Given the description of an element on the screen output the (x, y) to click on. 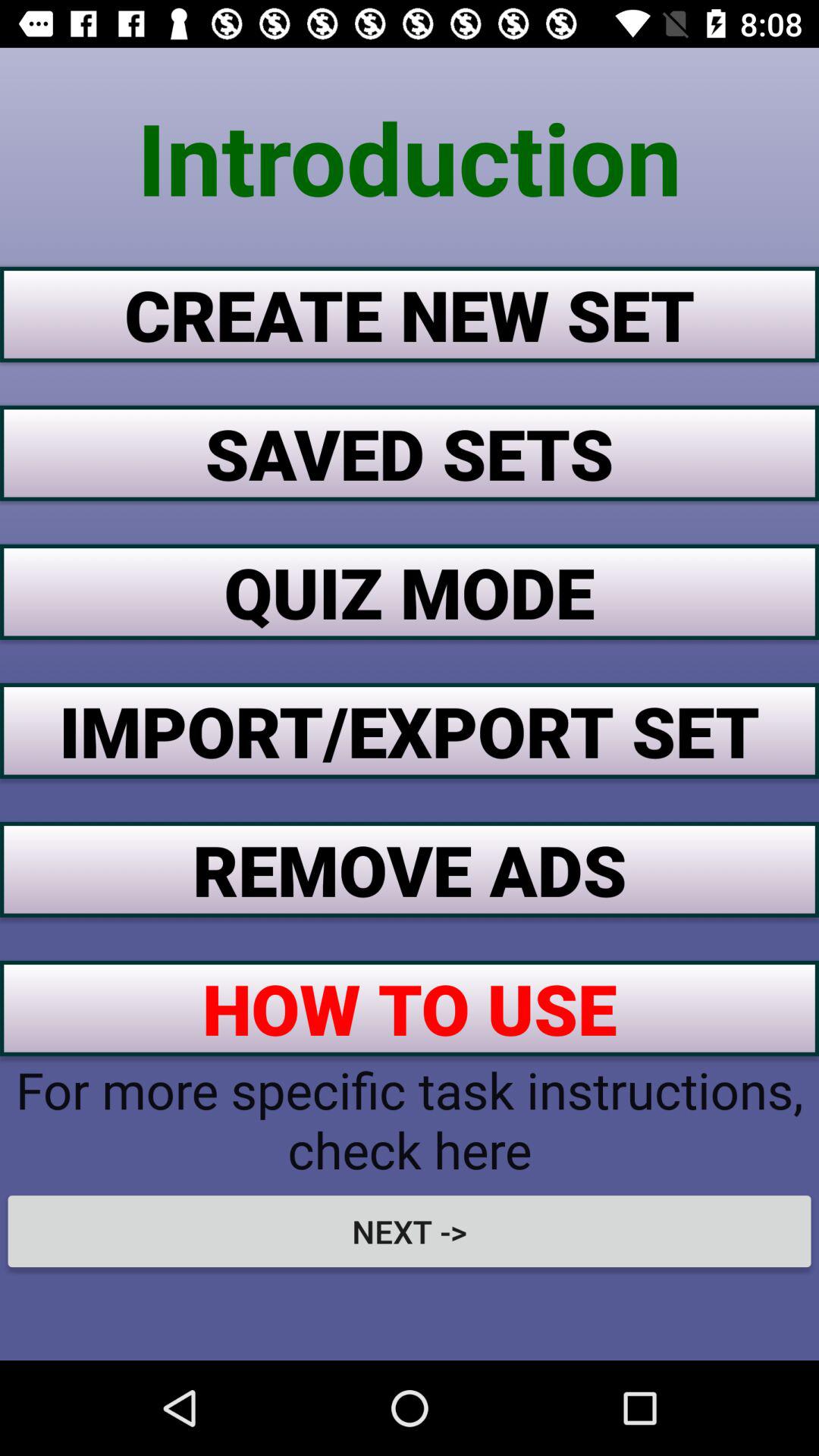
launch the icon below remove ads (409, 1008)
